Given the description of an element on the screen output the (x, y) to click on. 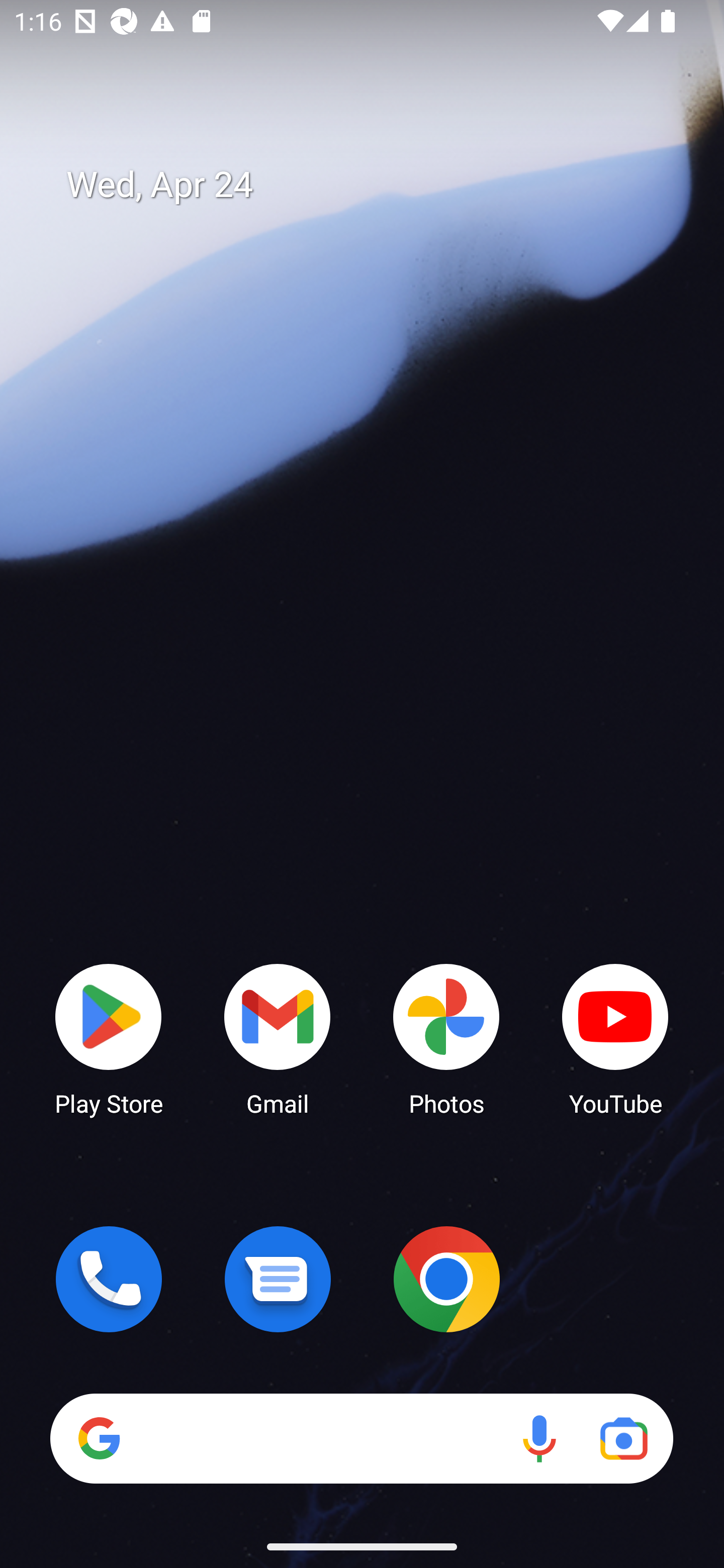
Wed, Apr 24 (375, 184)
Play Store (108, 1038)
Gmail (277, 1038)
Photos (445, 1038)
YouTube (615, 1038)
Phone (108, 1279)
Messages (277, 1279)
Chrome (446, 1279)
Search Voice search Google Lens (361, 1438)
Voice search (539, 1438)
Google Lens (623, 1438)
